Given the description of an element on the screen output the (x, y) to click on. 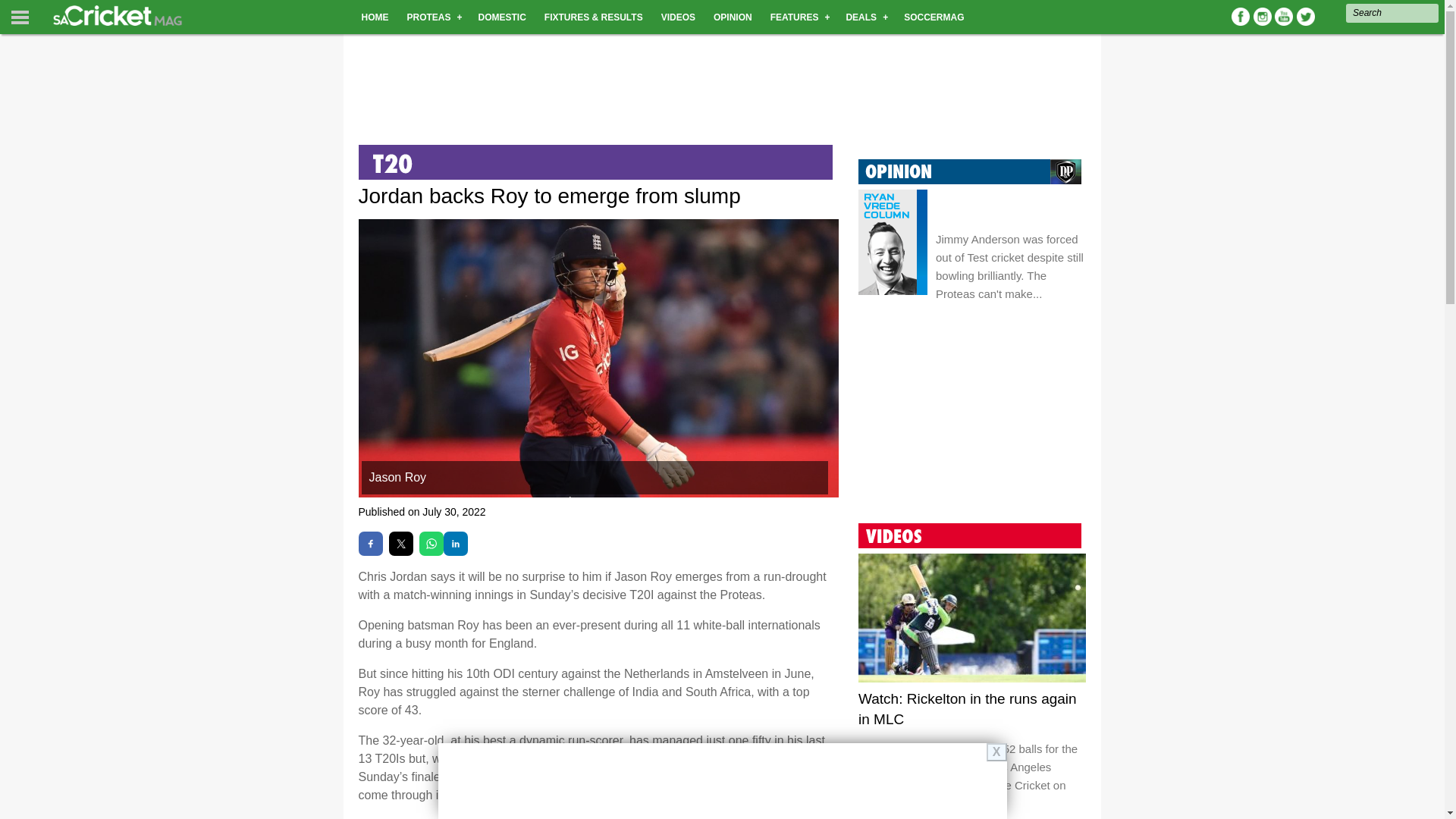
Search (91, 12)
Jordan backs Roy to emerge from slump (598, 492)
3rd party ad content (721, 79)
Search (80, 24)
Saturday, July 30th, 2022, 10:40 am (453, 511)
Home (11, 60)
Deals (10, 276)
Features (20, 245)
Videos (14, 183)
Opinion (16, 214)
Search (1391, 13)
Domestic (21, 122)
Proteas (16, 92)
Search (1391, 13)
